Given the description of an element on the screen output the (x, y) to click on. 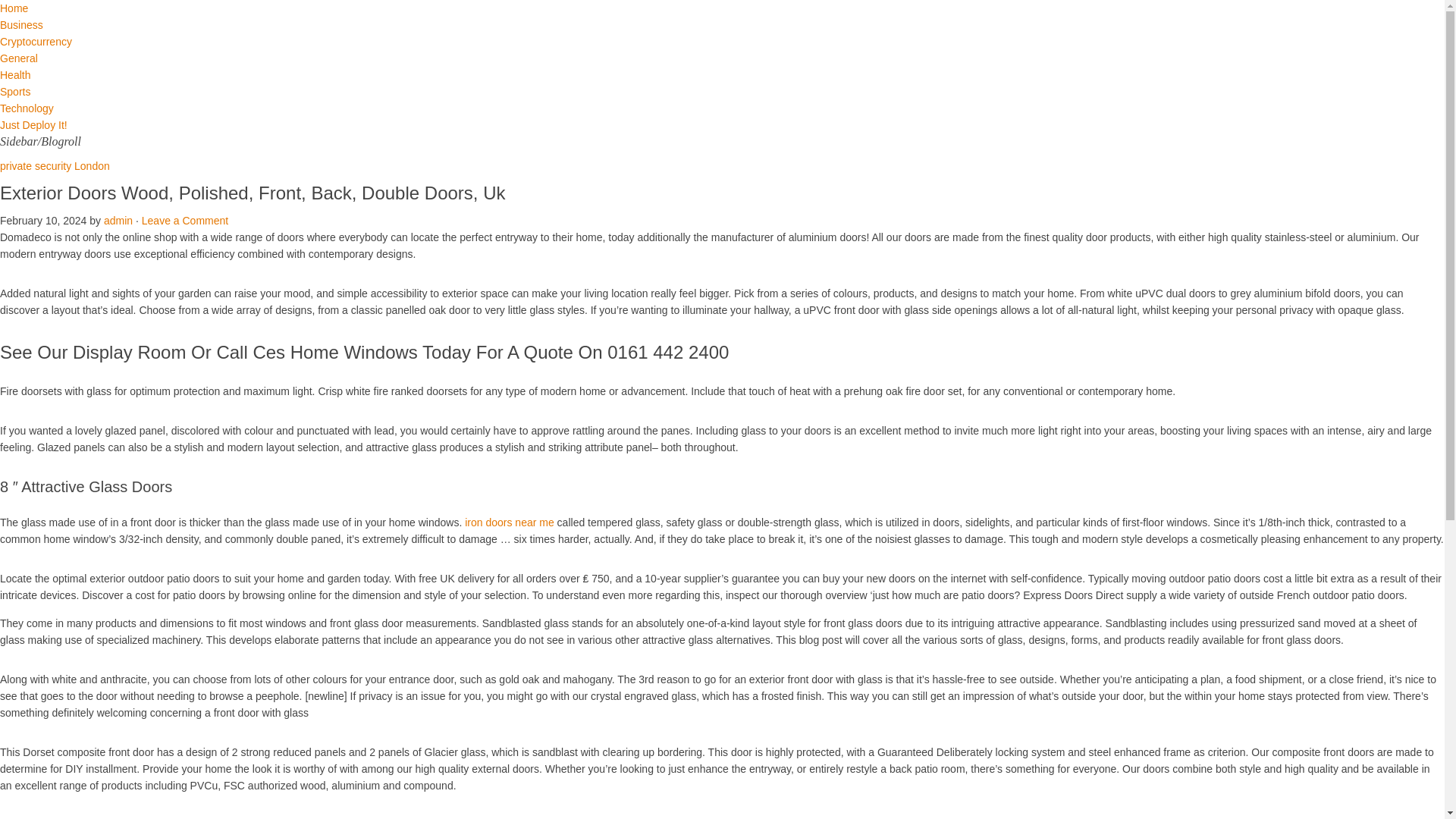
Just Deploy It! (33, 124)
Home (13, 8)
iron doors near me (509, 522)
Health (15, 74)
Business (21, 24)
Cryptocurrency (35, 41)
Sports (15, 91)
Technology (26, 108)
General (18, 58)
admin (117, 220)
private security London (55, 165)
Leave a Comment (184, 220)
